Given the description of an element on the screen output the (x, y) to click on. 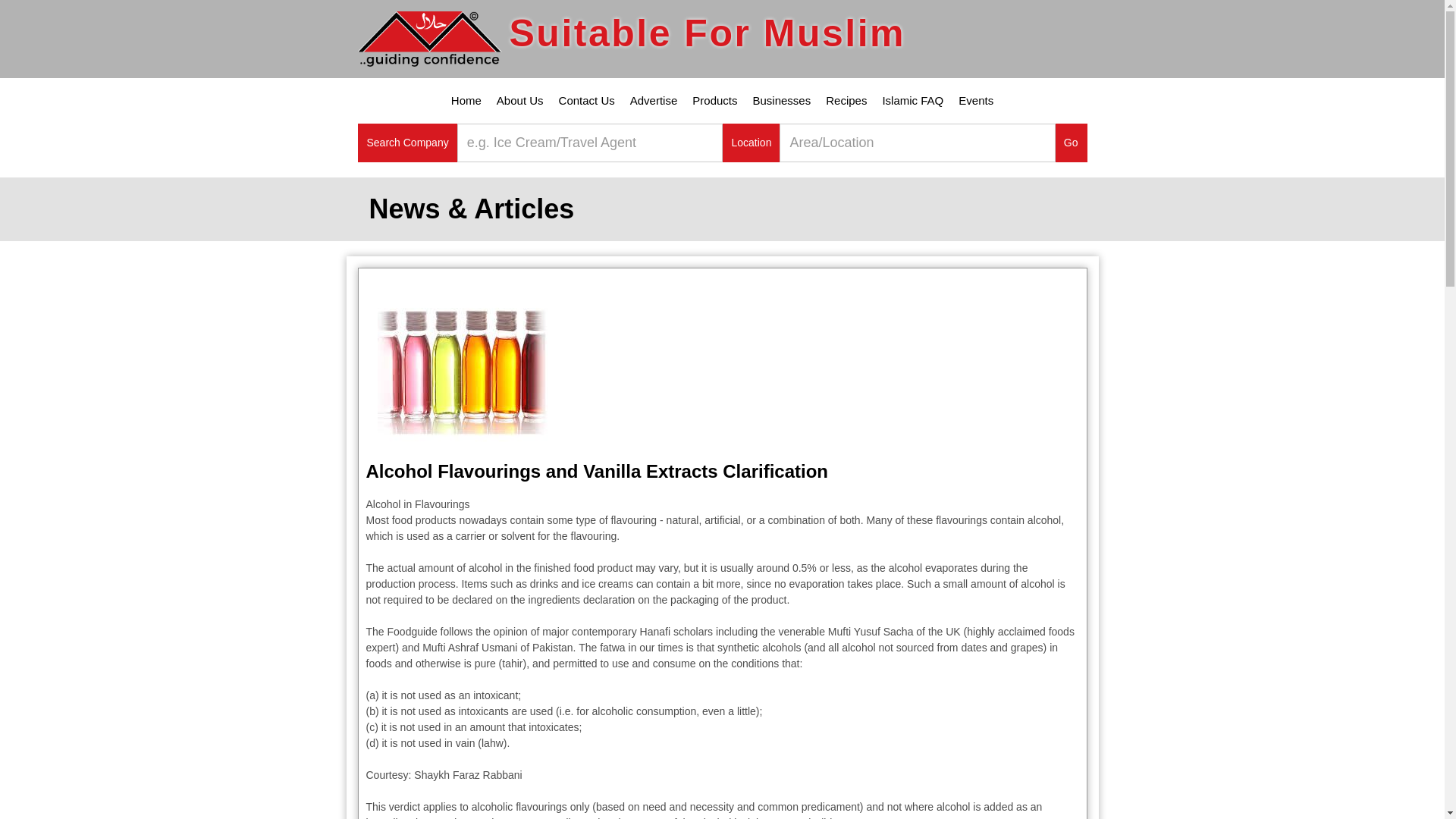
Advertise (654, 100)
Search Company (408, 142)
Businesses (781, 100)
Islamic FAQ (912, 100)
Events (975, 100)
About Us (520, 100)
Location (751, 142)
Home (466, 100)
Suitable For Muslim (631, 38)
Products (714, 100)
